Given the description of an element on the screen output the (x, y) to click on. 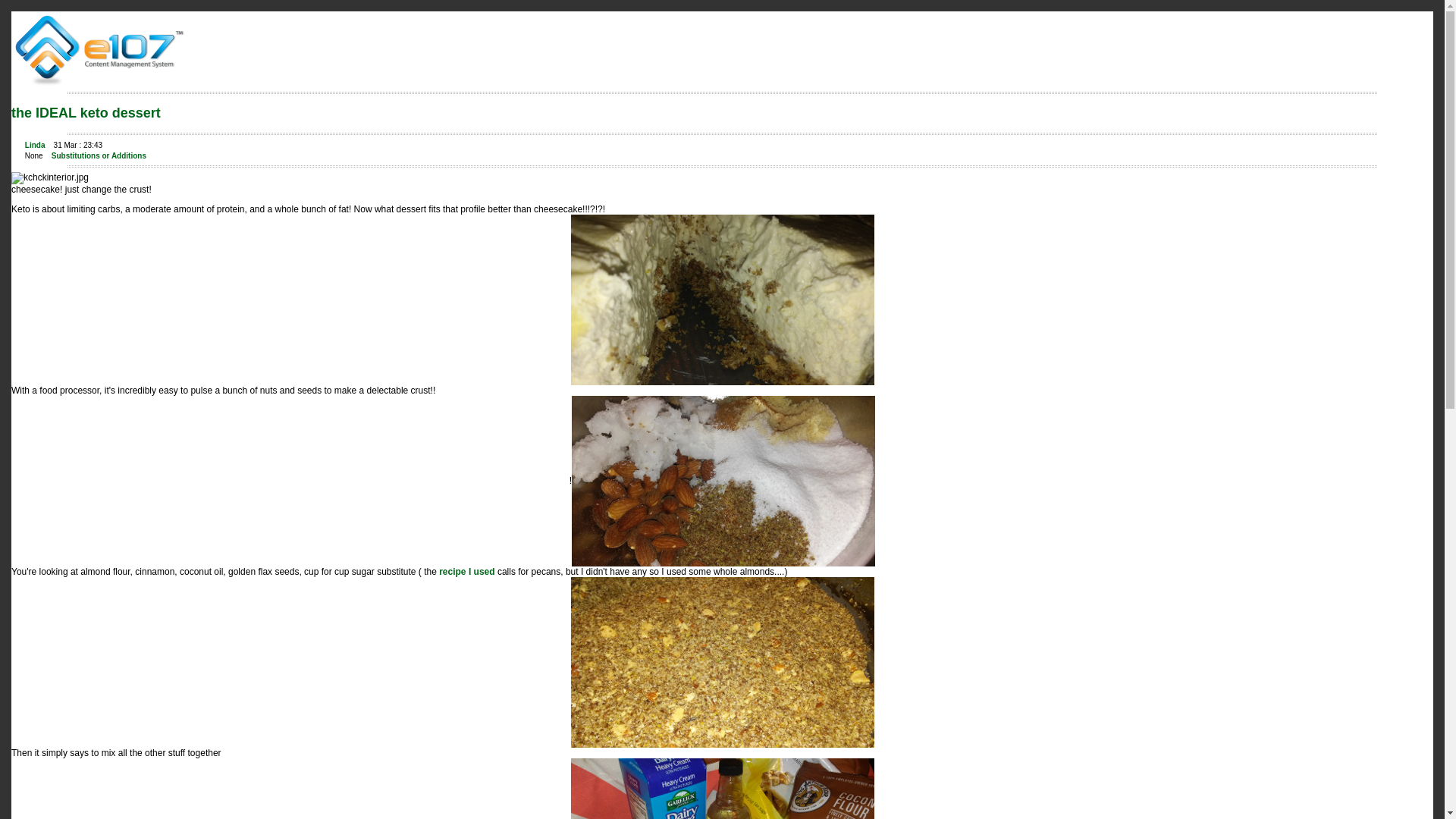
recipe I used (467, 571)
Kchckcrustingr (723, 480)
the IDEAL keto dessert (85, 112)
Kchckdrama (721, 299)
Kchckcrust (721, 662)
Linda (34, 144)
Kchckfilling (721, 788)
Substitutions or Additions (98, 155)
